Given the description of an element on the screen output the (x, y) to click on. 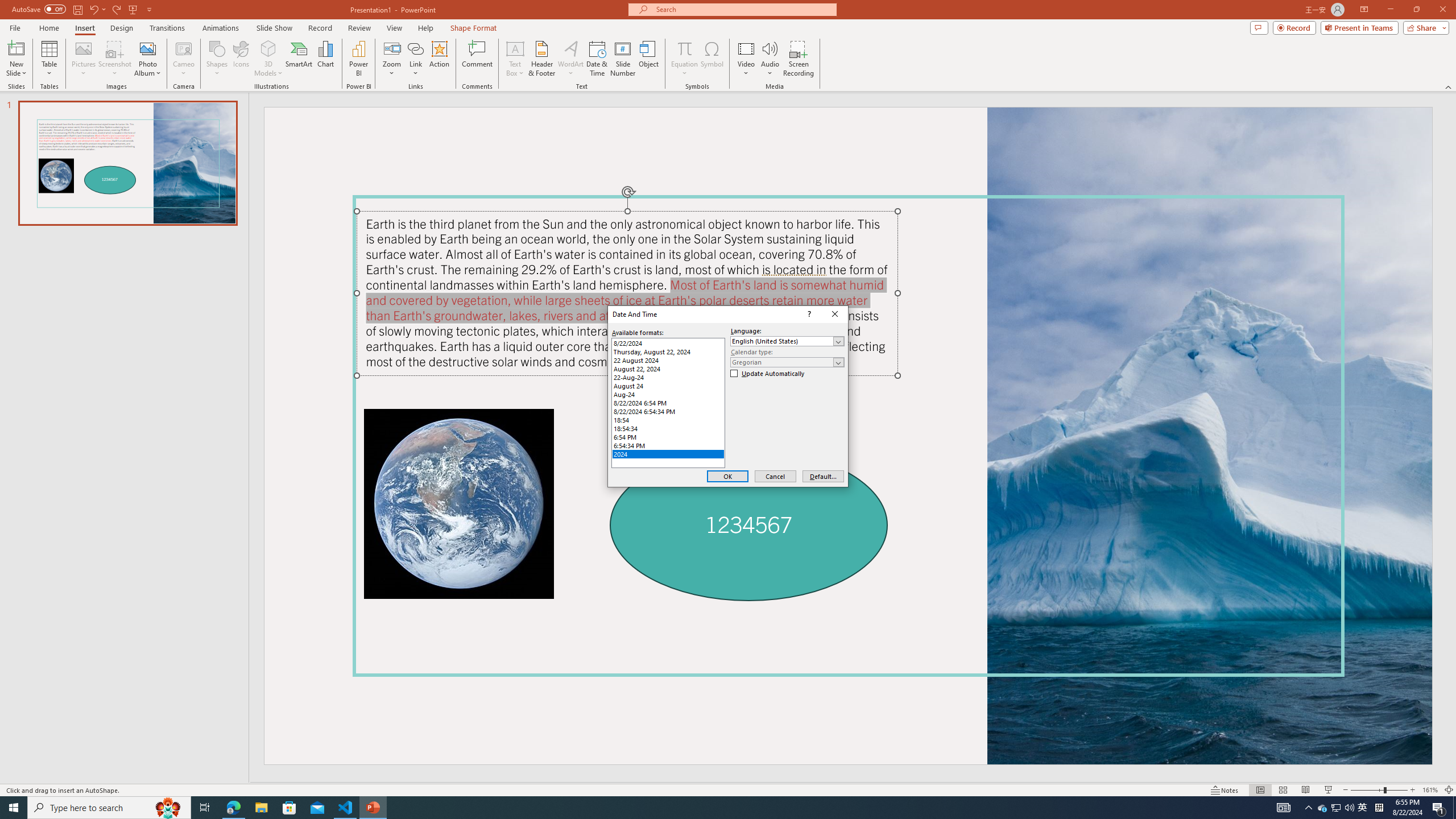
View (395, 28)
Link (415, 48)
Reading View (1305, 790)
3D Models (268, 58)
Slide Number (622, 58)
Collapse the Ribbon (1448, 86)
Customize Quick Access Toolbar (149, 9)
Task View (204, 807)
Calendar type (787, 362)
Record (1294, 27)
Video (745, 58)
Update Automatically (767, 373)
OK (727, 476)
